Given the description of an element on the screen output the (x, y) to click on. 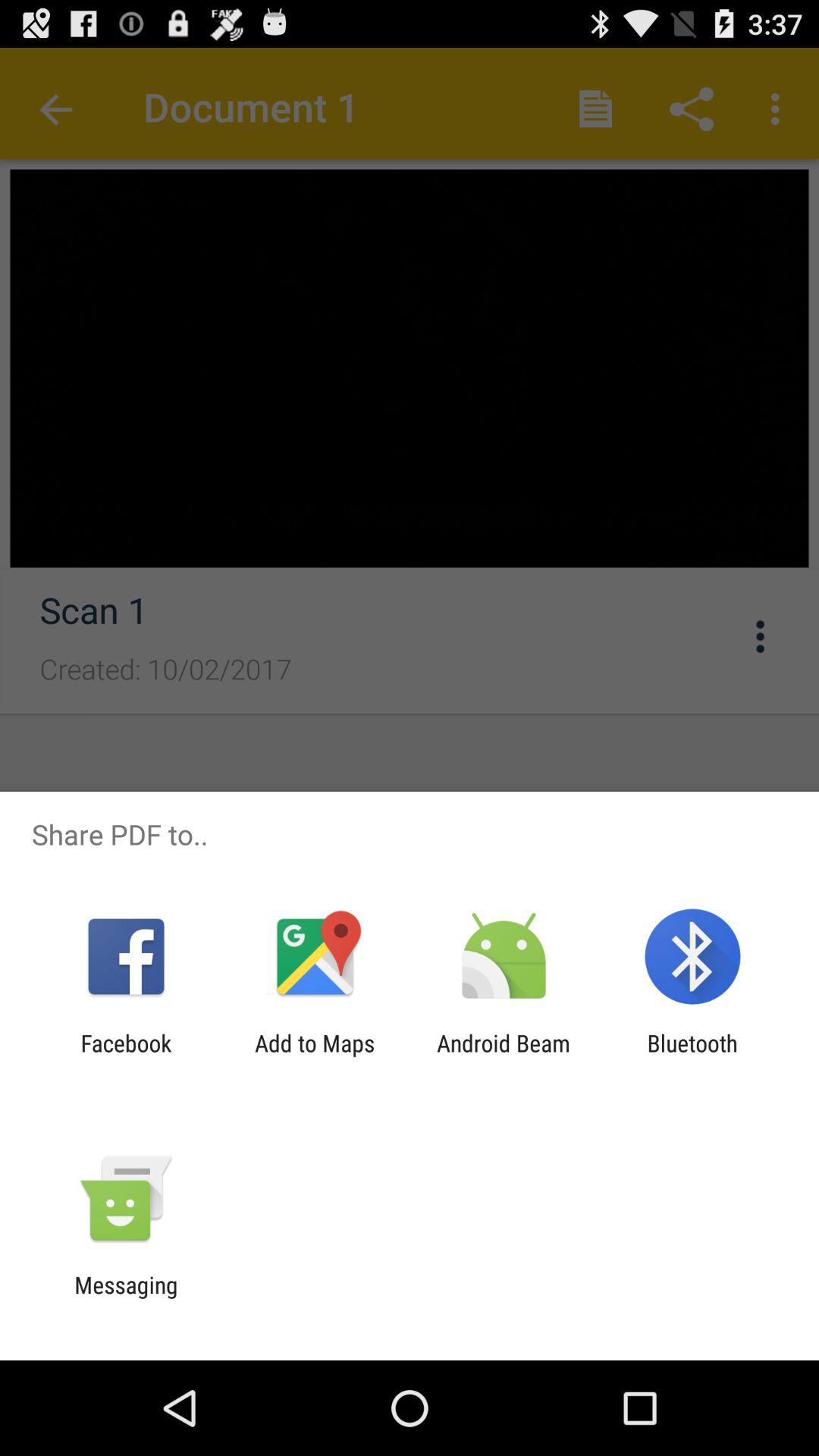
turn off facebook app (125, 1056)
